Given the description of an element on the screen output the (x, y) to click on. 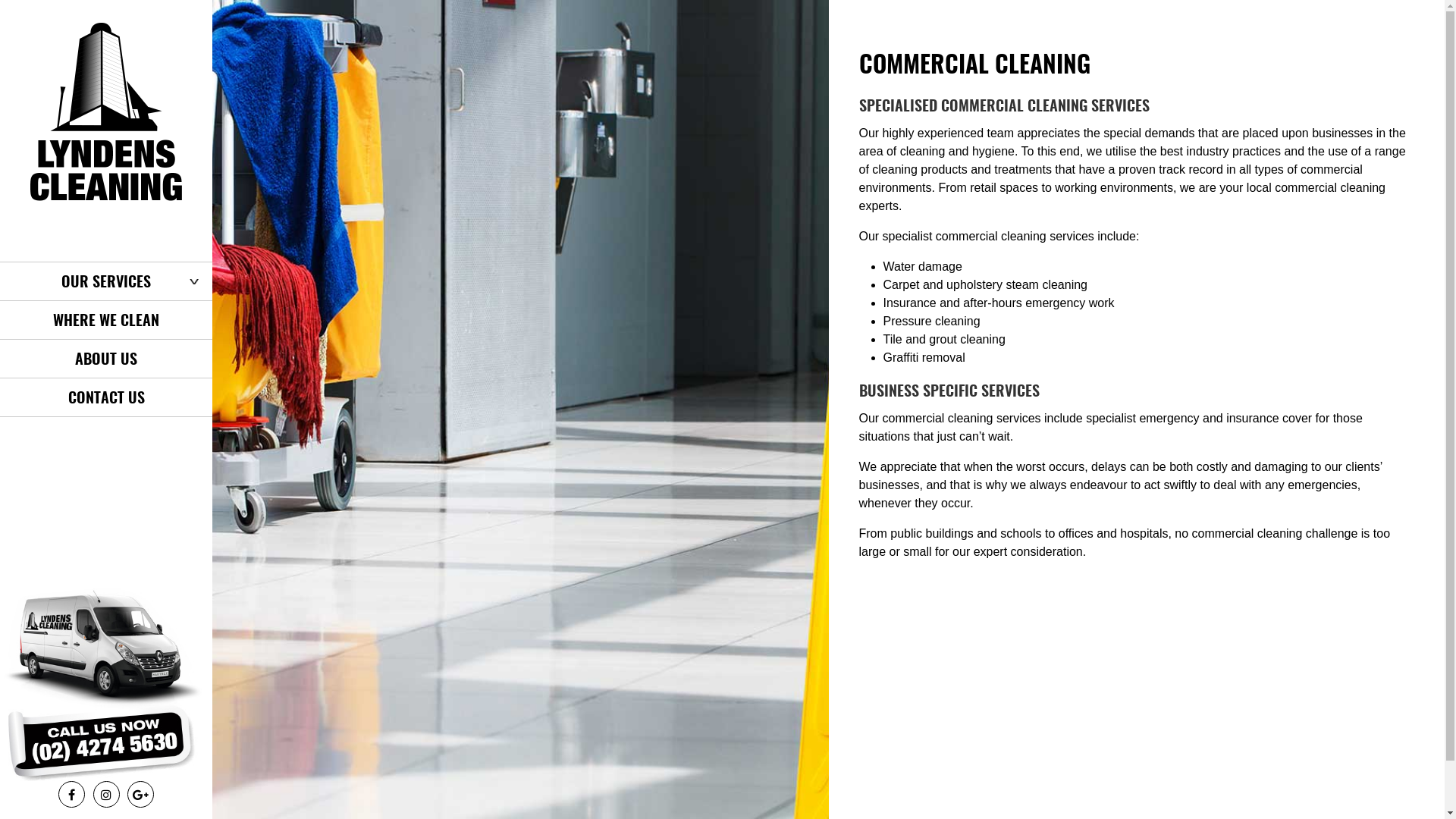
ABOUT US Element type: text (106, 358)
WHERE WE CLEAN Element type: text (106, 319)
OUR SERVICES Element type: text (106, 281)
CONTACT US Element type: text (106, 397)
